Given the description of an element on the screen output the (x, y) to click on. 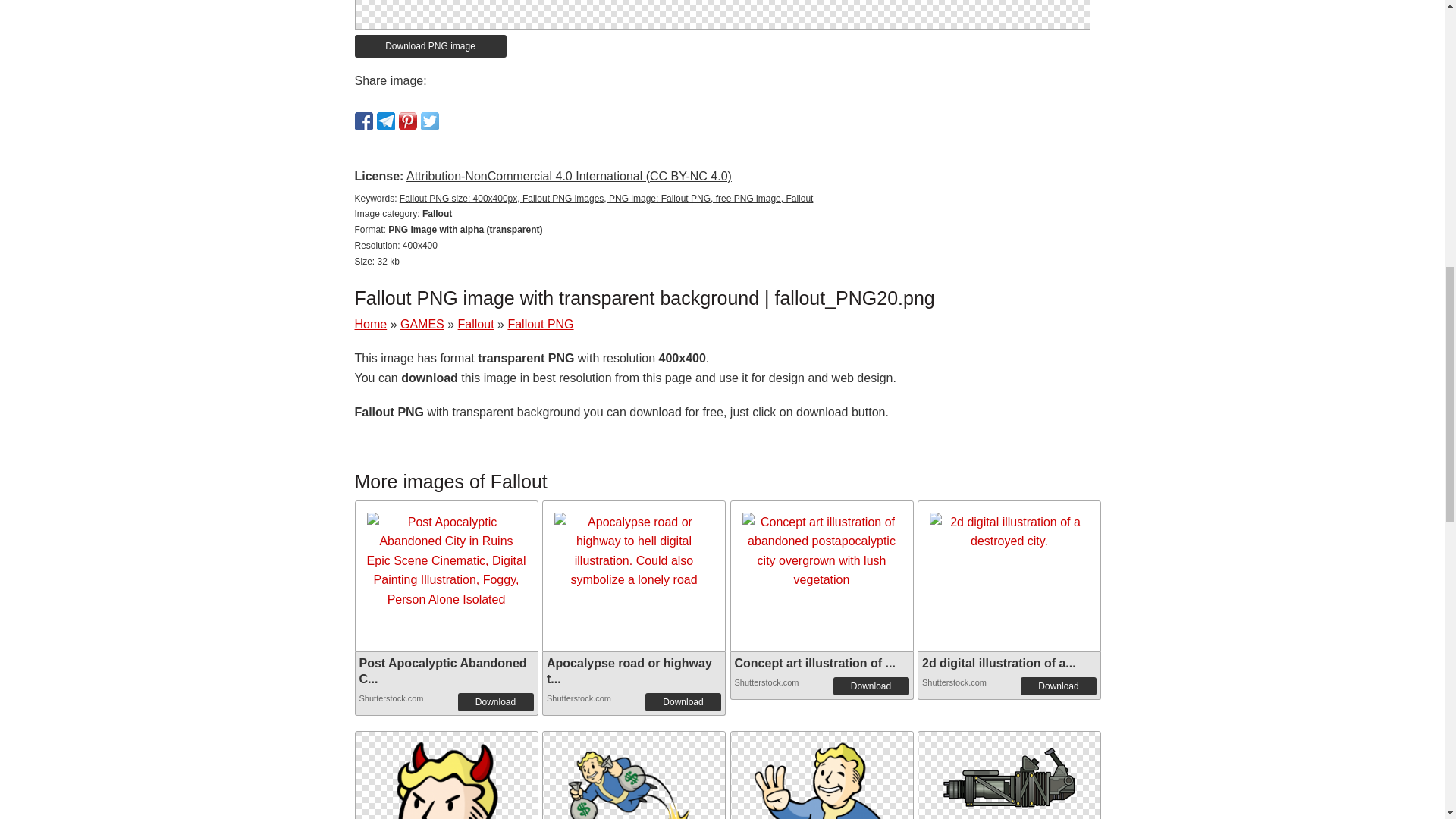
Download PNG image (430, 46)
Fallout PNG (821, 802)
Download (496, 701)
GAMES (422, 323)
Download (682, 701)
Fallout (476, 323)
2d digital illustration of a destroyed city. (1009, 531)
Fallout PNG (633, 802)
Share in Telegram (384, 121)
Post Apocalyptic Abandoned C... (443, 670)
Download (1058, 686)
Home (371, 323)
Concept art illustration of ... (814, 662)
